Given the description of an element on the screen output the (x, y) to click on. 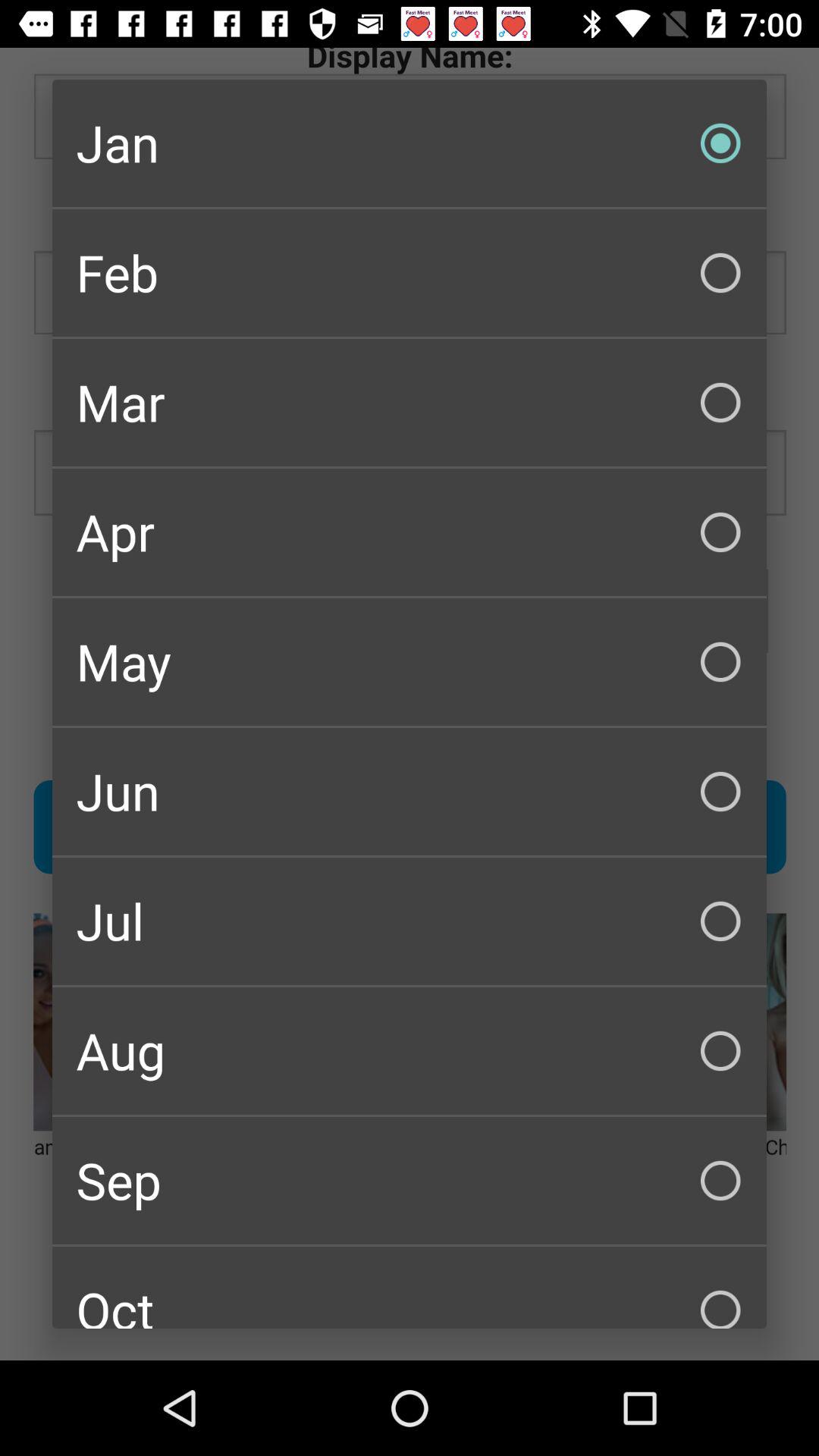
scroll to jul item (409, 921)
